Given the description of an element on the screen output the (x, y) to click on. 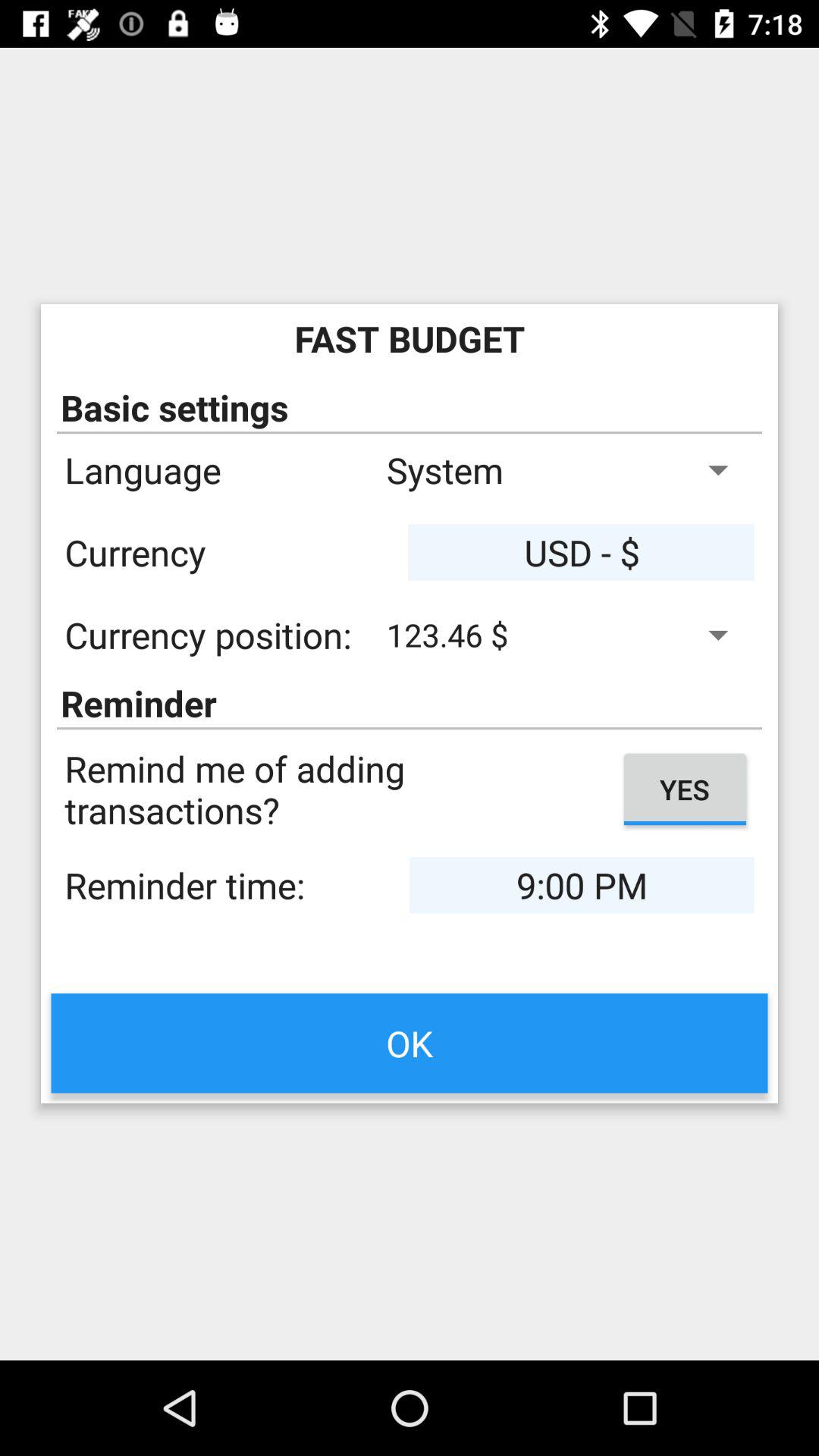
click on usd   (581, 552)
select the time below the text yes (581, 885)
click on the button yes (684, 789)
